Given the description of an element on the screen output the (x, y) to click on. 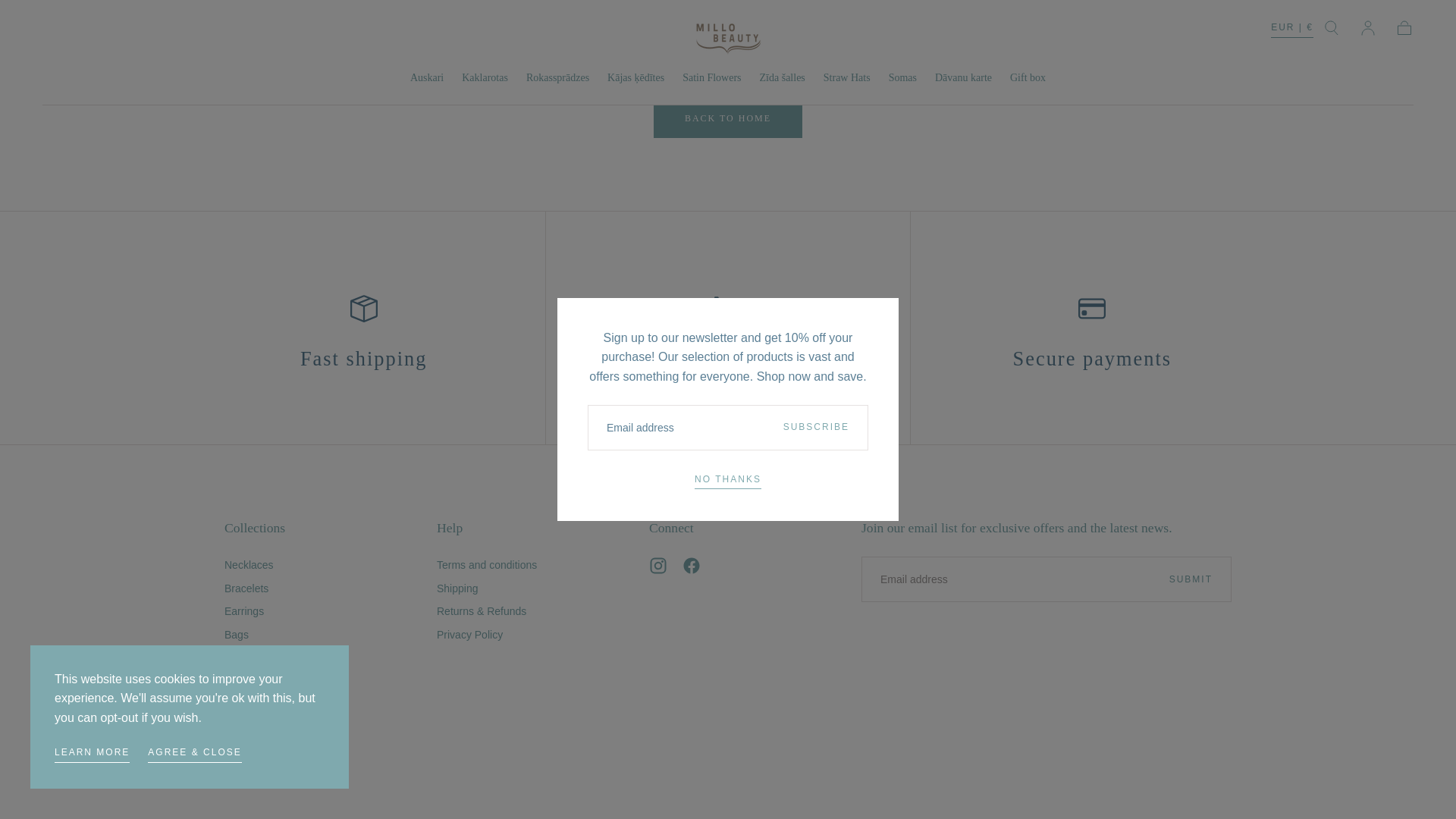
Bracelets (252, 588)
NO THANKS (727, 302)
Necklaces (252, 564)
LEARN MORE (92, 574)
Earrings (252, 610)
SUBSCRIBE (816, 248)
Collections (254, 527)
Bags (252, 634)
